Given the description of an element on the screen output the (x, y) to click on. 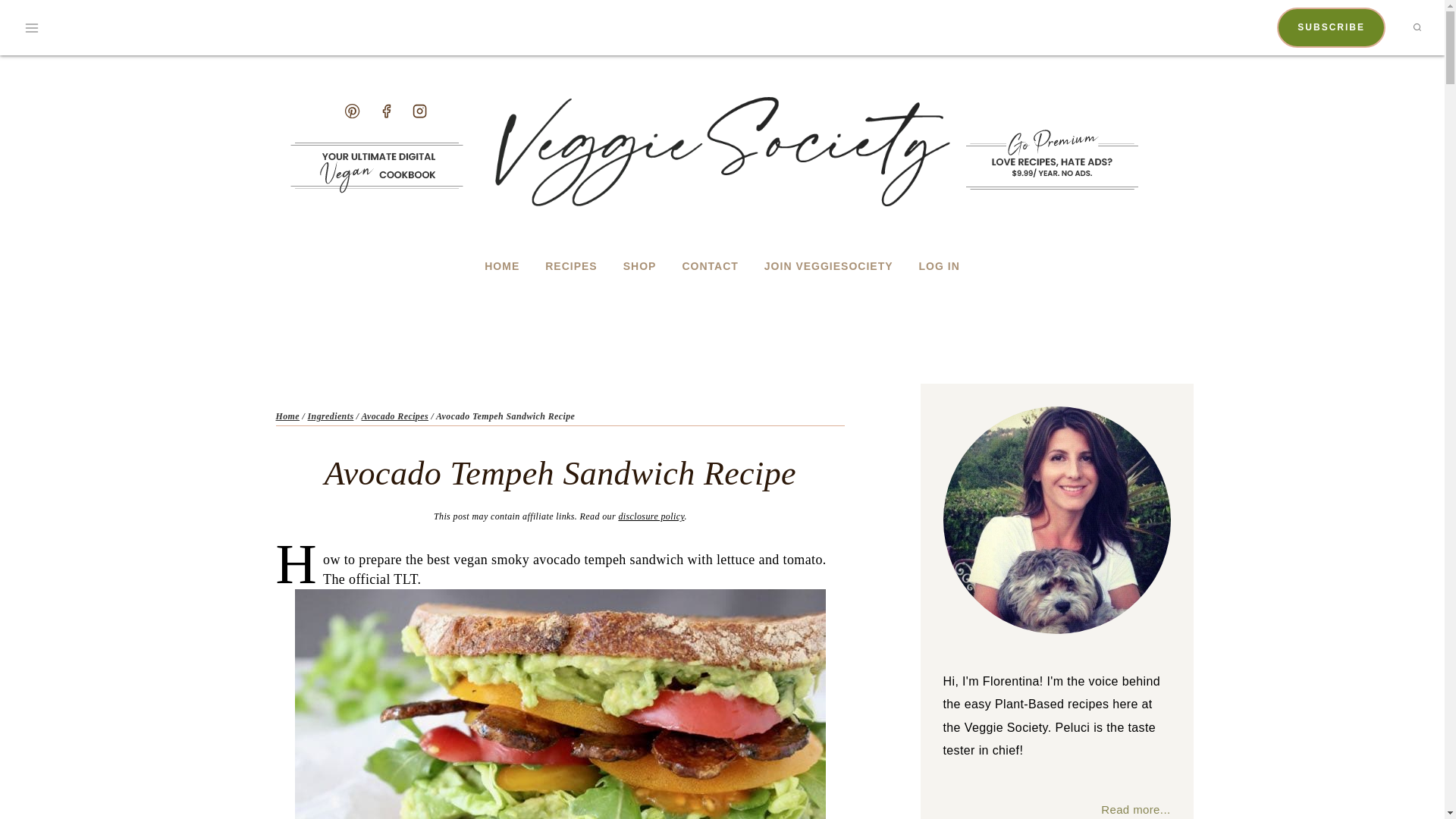
BUTTON (1050, 159)
HOME (509, 266)
SUBSCRIBE (1331, 27)
JOIN VEGGIESOCIETY (836, 266)
RECIPES (578, 266)
Home (287, 416)
Vegan Avocado Tempeh Sandwich with Lettuce and Tomatoes (560, 703)
LOG IN (946, 266)
disclosure policy (650, 516)
CONTACT (717, 266)
Avocado Recipes (394, 416)
SHOP (647, 266)
Ingredients (330, 416)
